Given the description of an element on the screen output the (x, y) to click on. 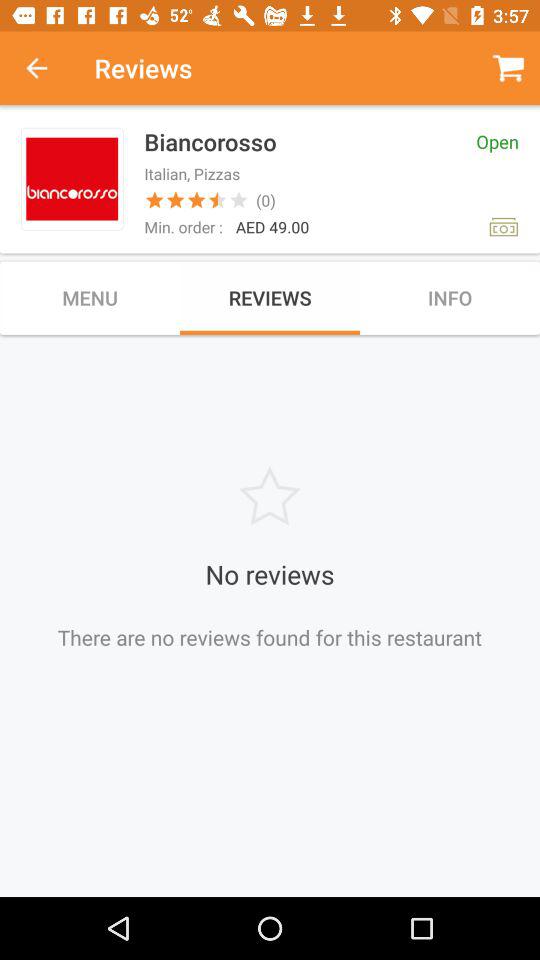
select the item to the left of reviews icon (47, 68)
